Given the description of an element on the screen output the (x, y) to click on. 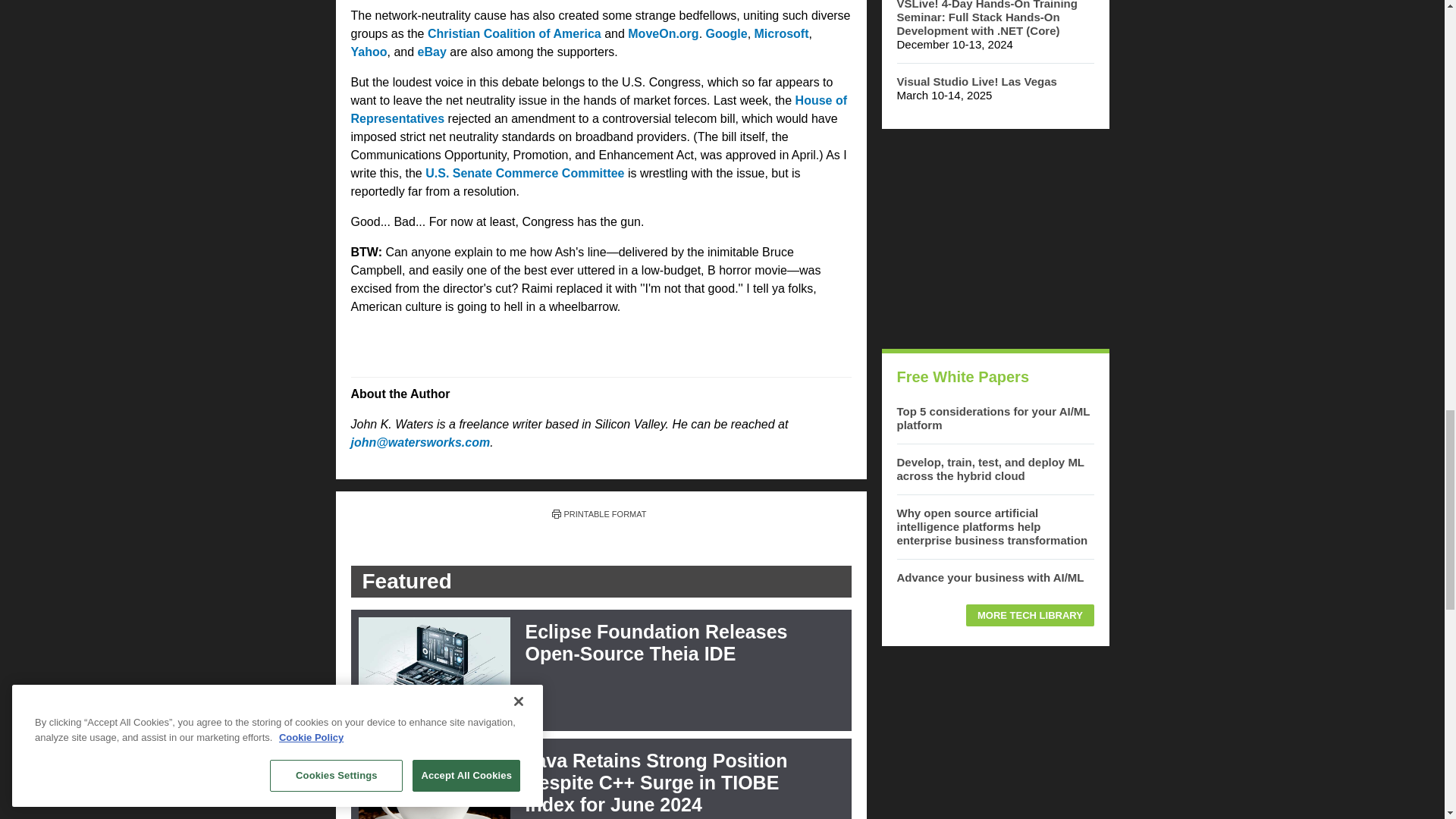
3rd party ad content (994, 739)
Christian Coalition of America (514, 33)
3rd party ad content (994, 238)
MoveOn.org (662, 33)
